Given the description of an element on the screen output the (x, y) to click on. 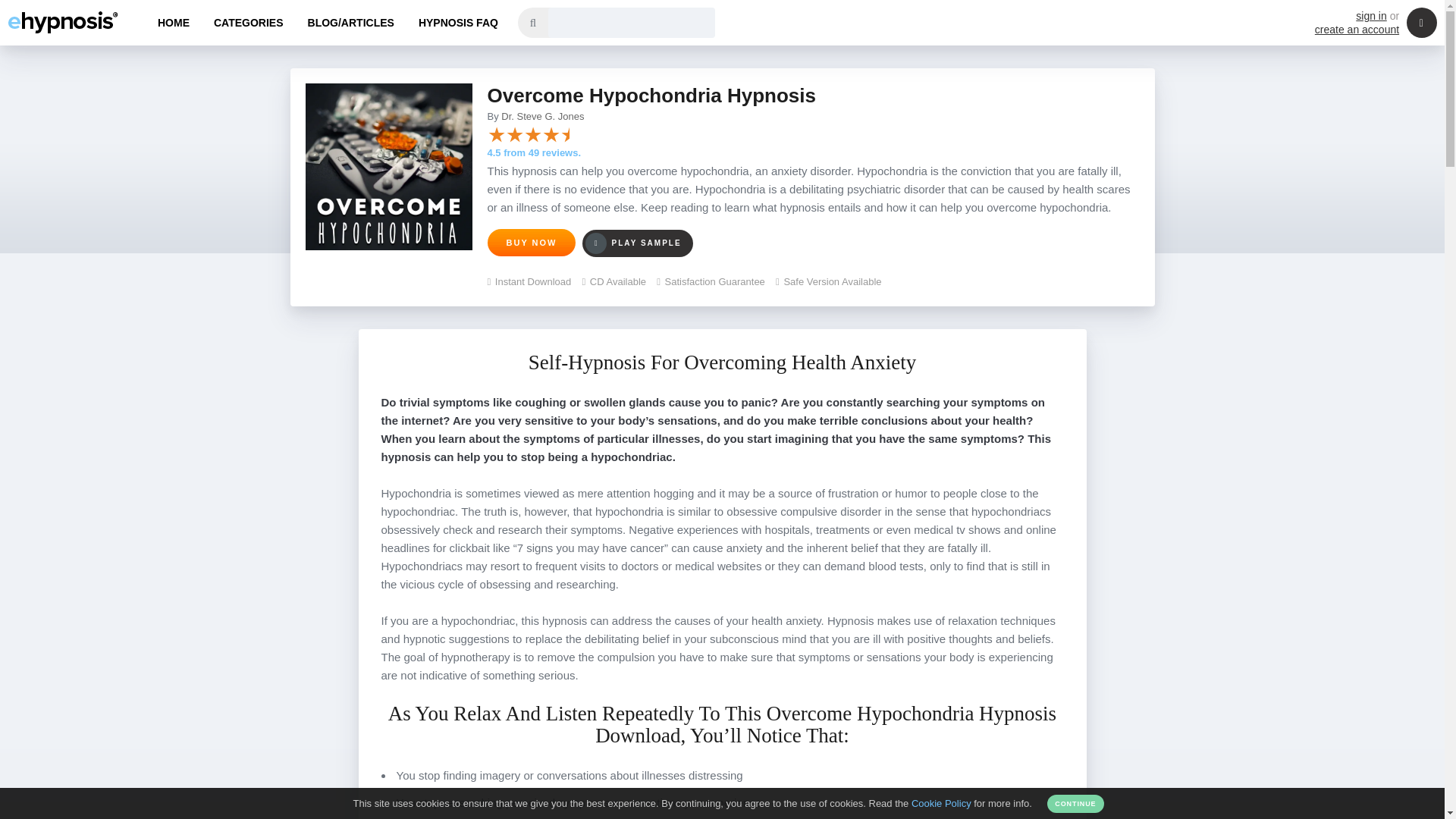
BUY NOW (530, 242)
Dr. Steve G. Jones (541, 116)
CATEGORIES (248, 22)
HYPNOSIS FAQ (458, 22)
create an account (1356, 29)
HOME (173, 22)
sign in (1370, 15)
4.5 from 49 reviews. (533, 152)
